Given the description of an element on the screen output the (x, y) to click on. 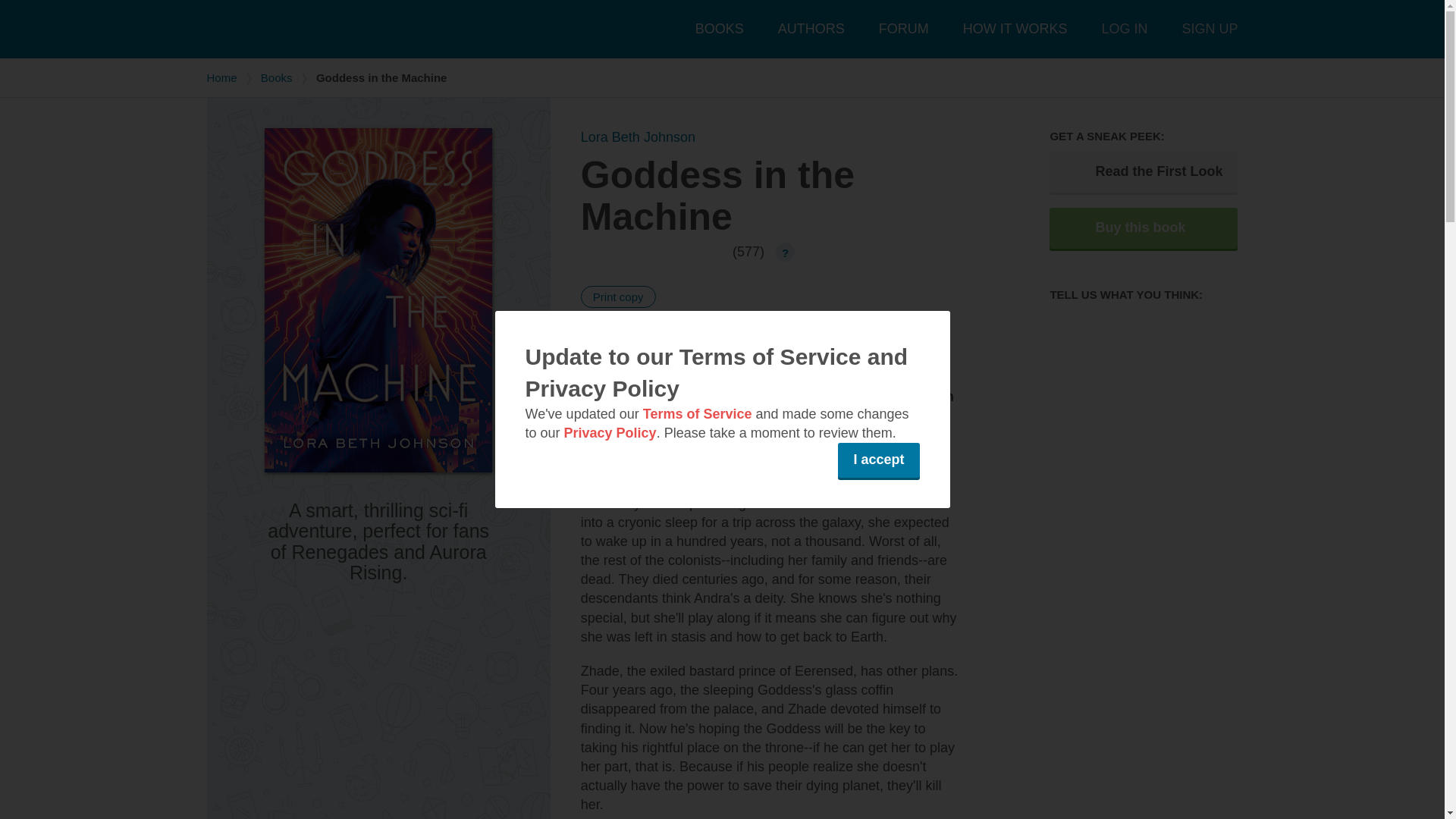
HOW IT WORKS (1014, 28)
BookishFirst logo (319, 28)
Share via Twitter (709, 339)
BOOKS (719, 28)
SIGN UP (1208, 28)
Home (220, 77)
FORUM (903, 28)
Read the First Look (1143, 171)
AUTHORS (810, 28)
Share via email (641, 339)
